Given the description of an element on the screen output the (x, y) to click on. 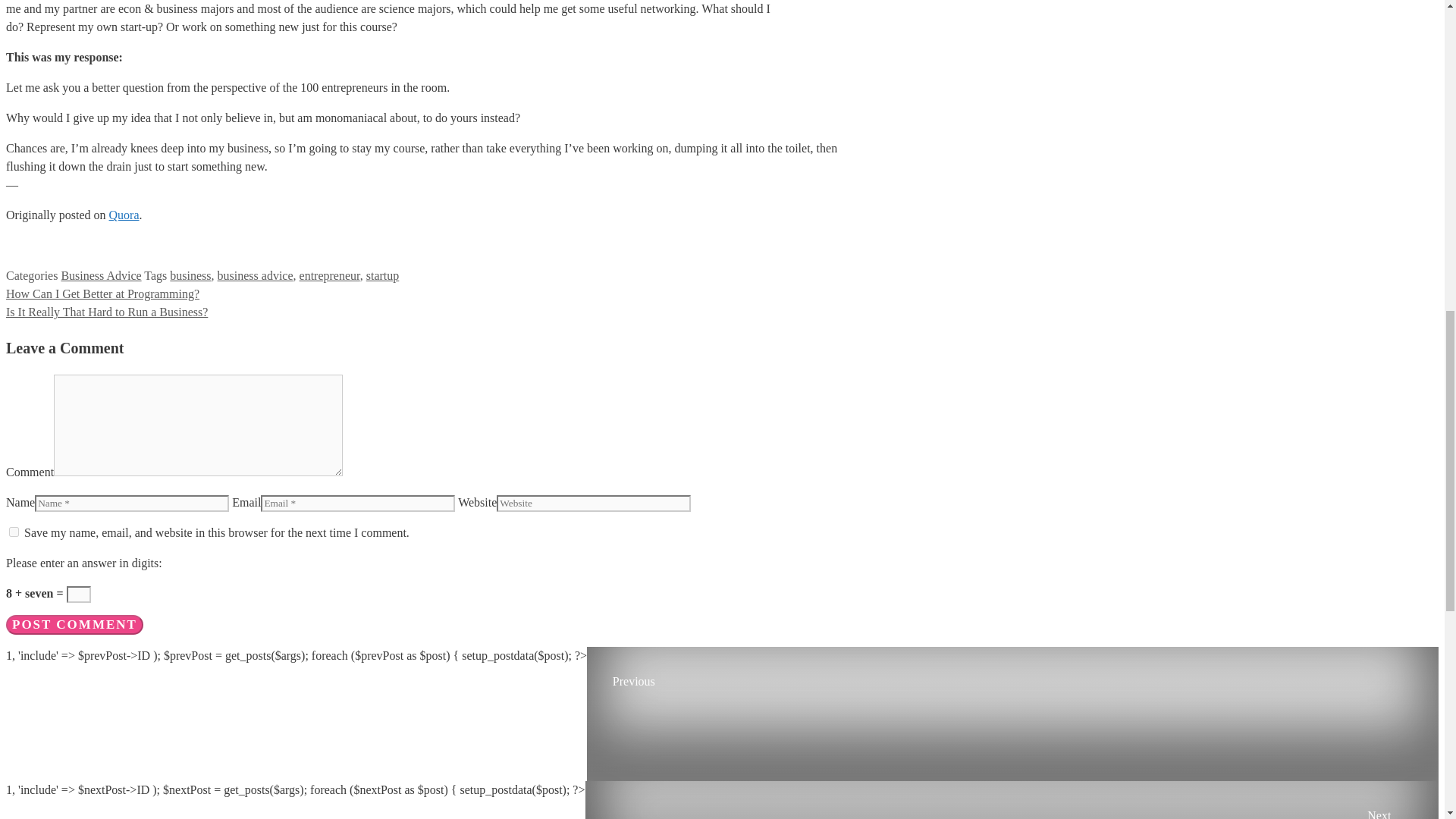
business (190, 275)
Is It Really That Hard to Run a Business? (106, 311)
Post Comment (73, 624)
yes (13, 532)
Business Advice (101, 275)
Quora (124, 214)
startup (382, 275)
Post Comment (73, 624)
entrepreneur (329, 275)
How Can I Get Better at Programming? (102, 293)
business advice (255, 275)
